Given the description of an element on the screen output the (x, y) to click on. 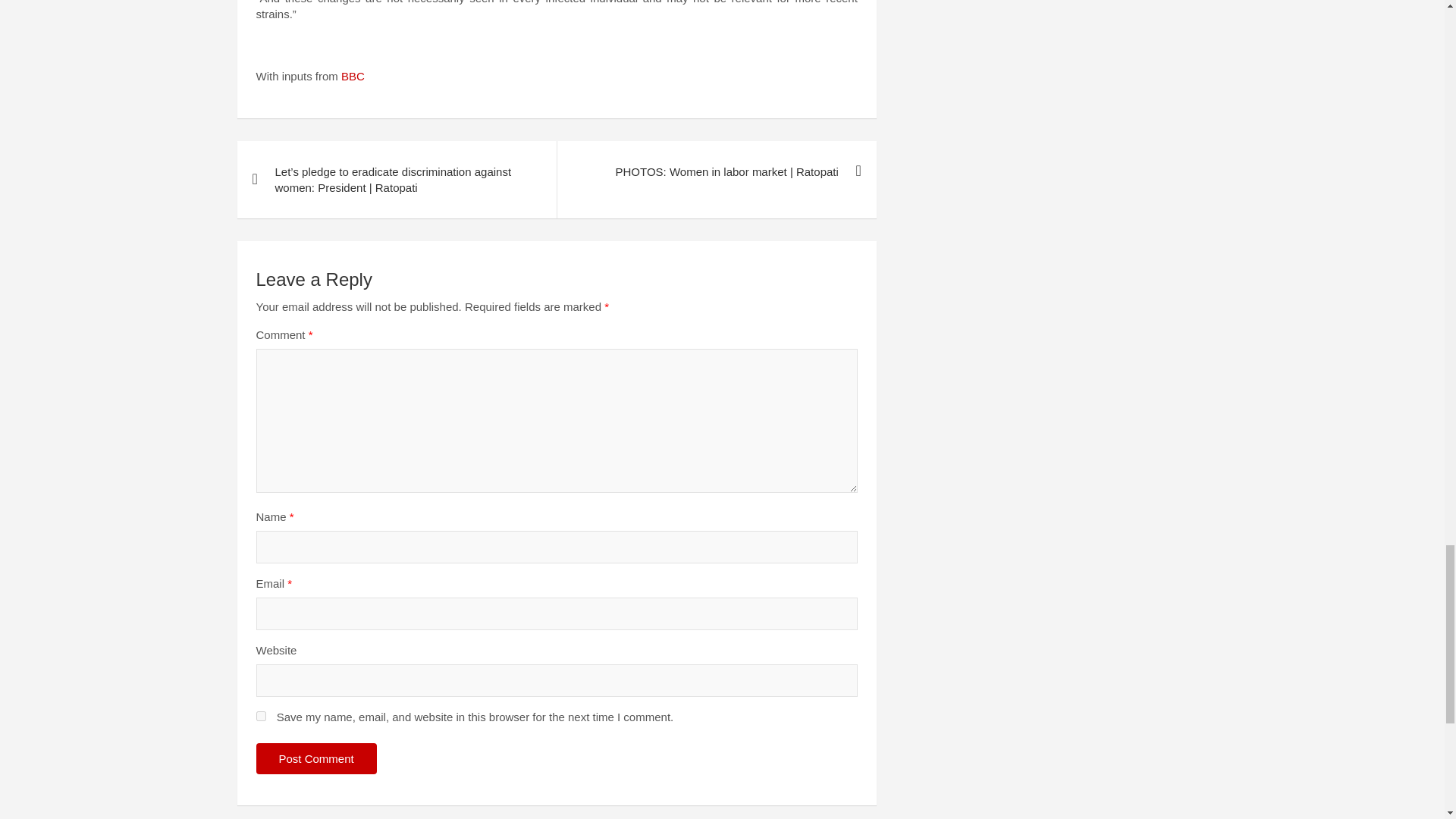
BBC (352, 75)
yes (261, 716)
Post Comment (316, 757)
Post Comment (316, 757)
